Given the description of an element on the screen output the (x, y) to click on. 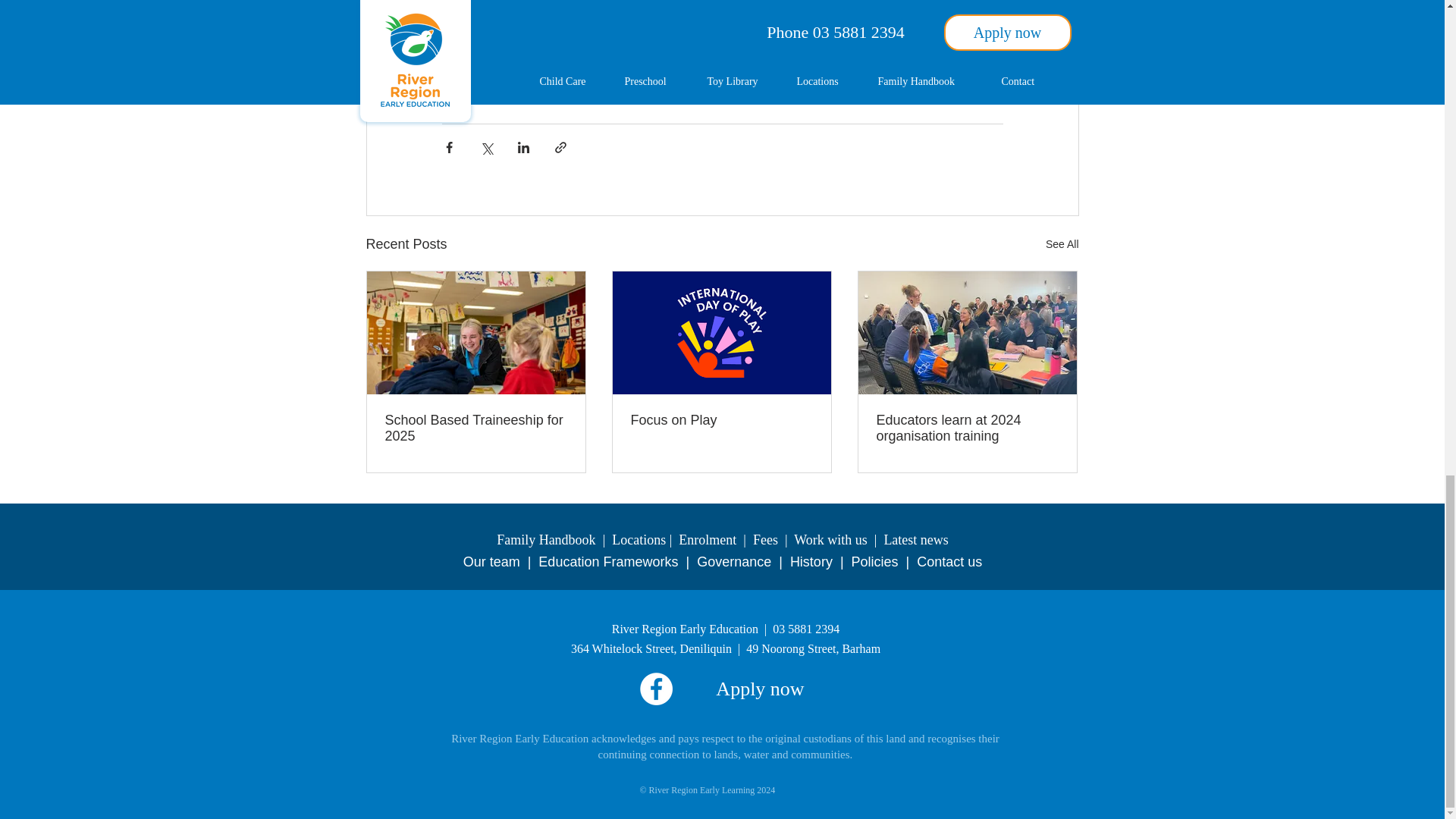
Education Frameworks (608, 561)
See All (1061, 244)
Educators learn at 2024 organisation training (967, 428)
Fees (764, 539)
Latest news (915, 539)
History (811, 561)
Our team (491, 561)
Enrolment (707, 539)
Family Handbook (545, 539)
Governance (734, 561)
Focus on Play (721, 420)
Work with us (830, 539)
Locations (638, 539)
Policies (874, 561)
School Based Traineeship for 2025 (476, 428)
